Given the description of an element on the screen output the (x, y) to click on. 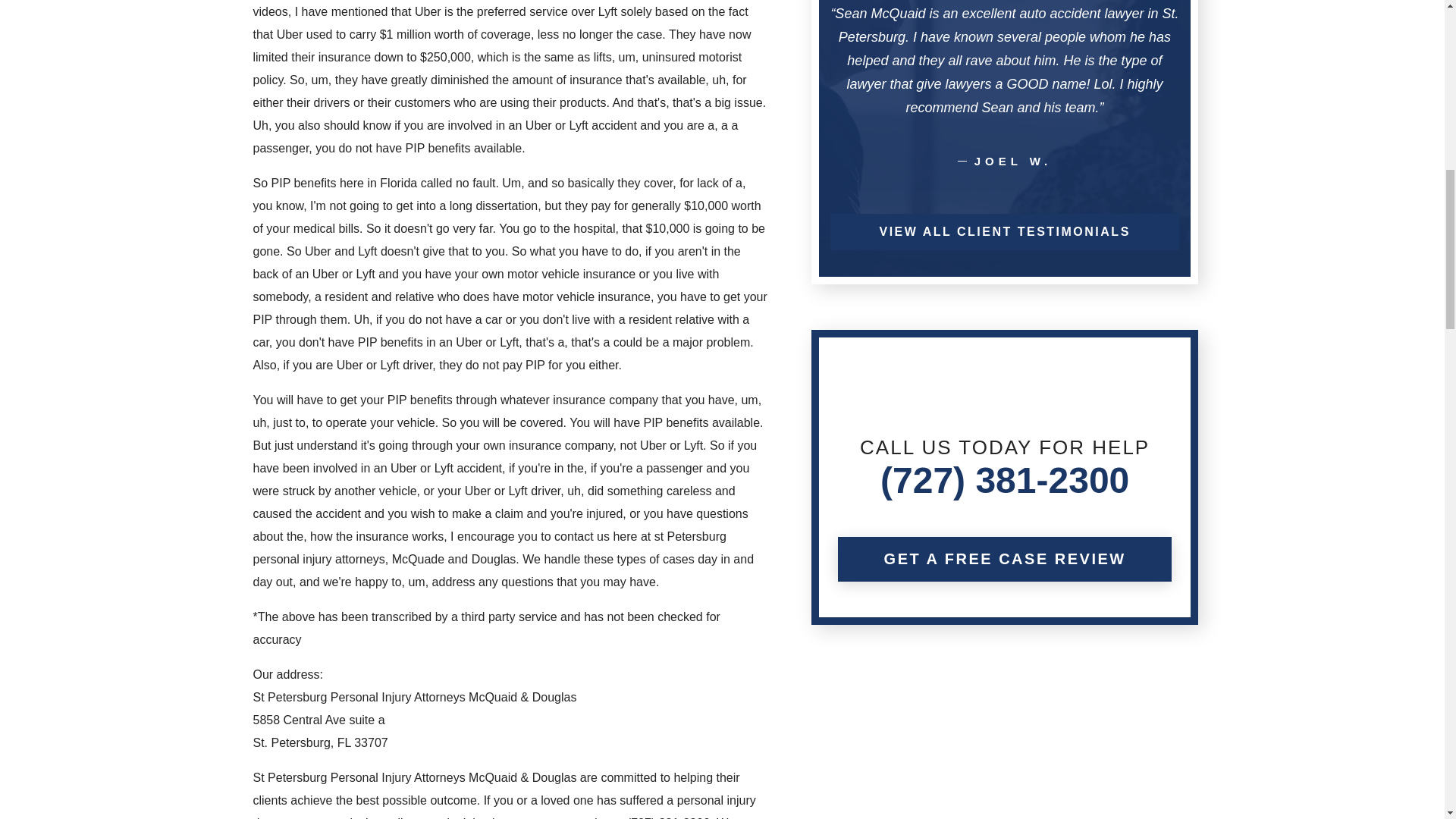
GET A FREE CASE REVIEW (1005, 559)
VIEW ALL CLIENT TESTIMONIALS (1004, 231)
